Given the description of an element on the screen output the (x, y) to click on. 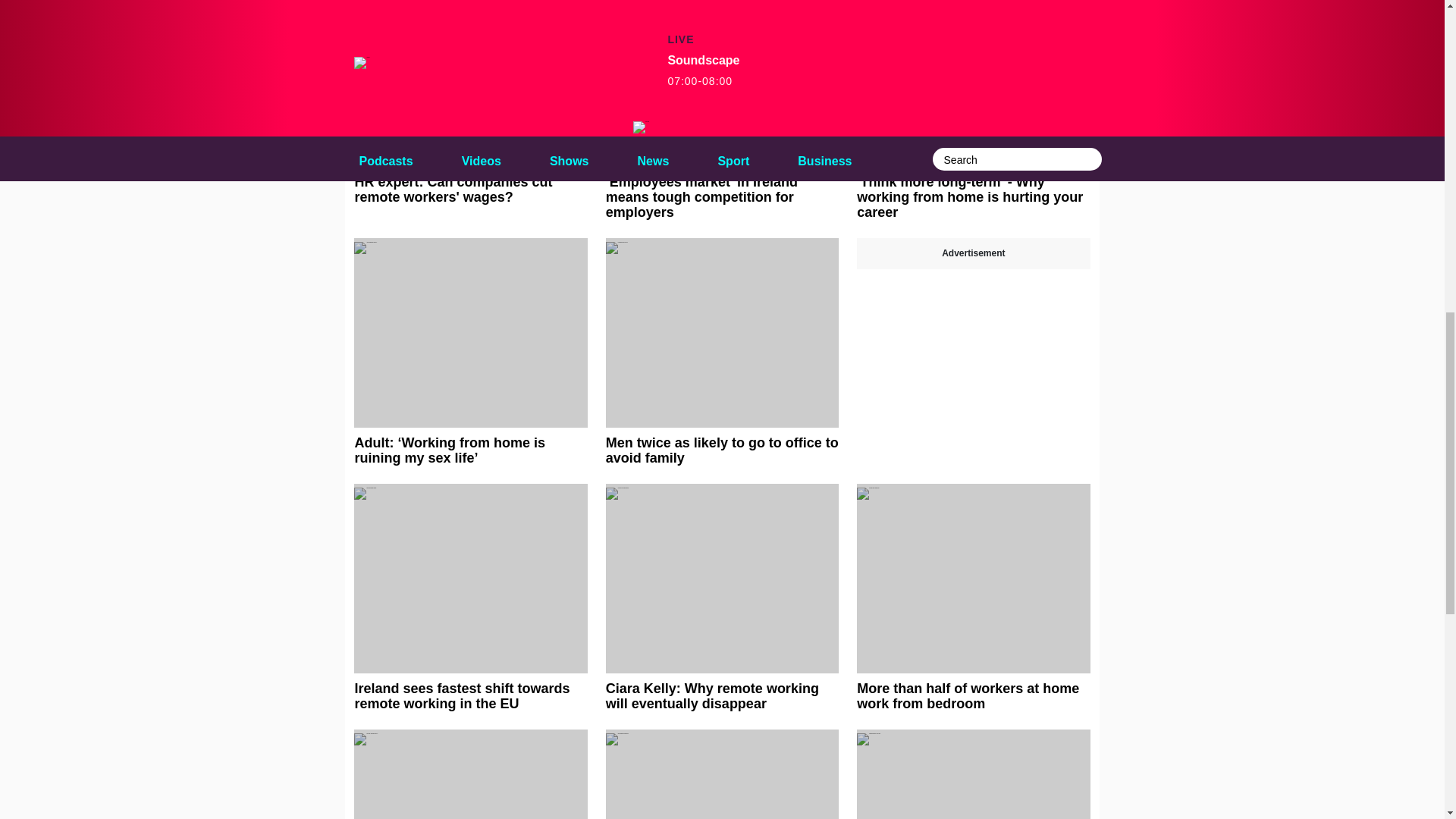
Men twice as likely to go to office to avoid family  (721, 352)
Working from home: Is your employer watching you? (973, 774)
WFH: Can your employer force you to keep you webcam on? (469, 774)
Ciara Kelly: Why remote working will eventually disappear (721, 597)
Ireland sees fastest shift towards remote working in the EU (469, 597)
HR expert: Can companies cut remote workers' wages? (469, 102)
Office working to become more popular as heating bills soar (721, 774)
More than half of workers at home work from bedroom  (973, 597)
